Given the description of an element on the screen output the (x, y) to click on. 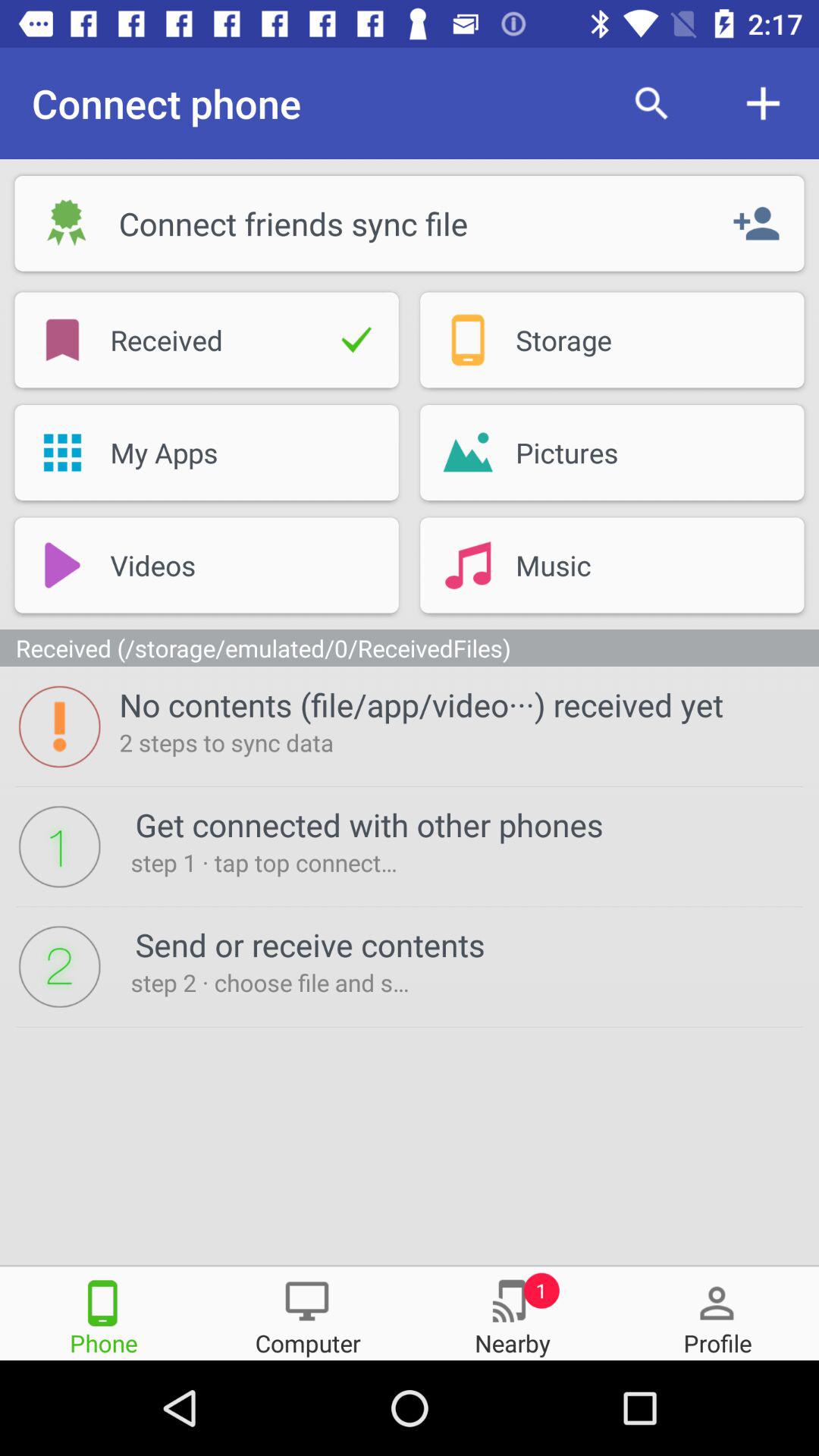
click on the symbol beside the word connect (66, 223)
click on the icon which is left to no contents (59, 726)
select the text along with the symbol beside computer (511, 1312)
click the video button (206, 564)
